Given the description of an element on the screen output the (x, y) to click on. 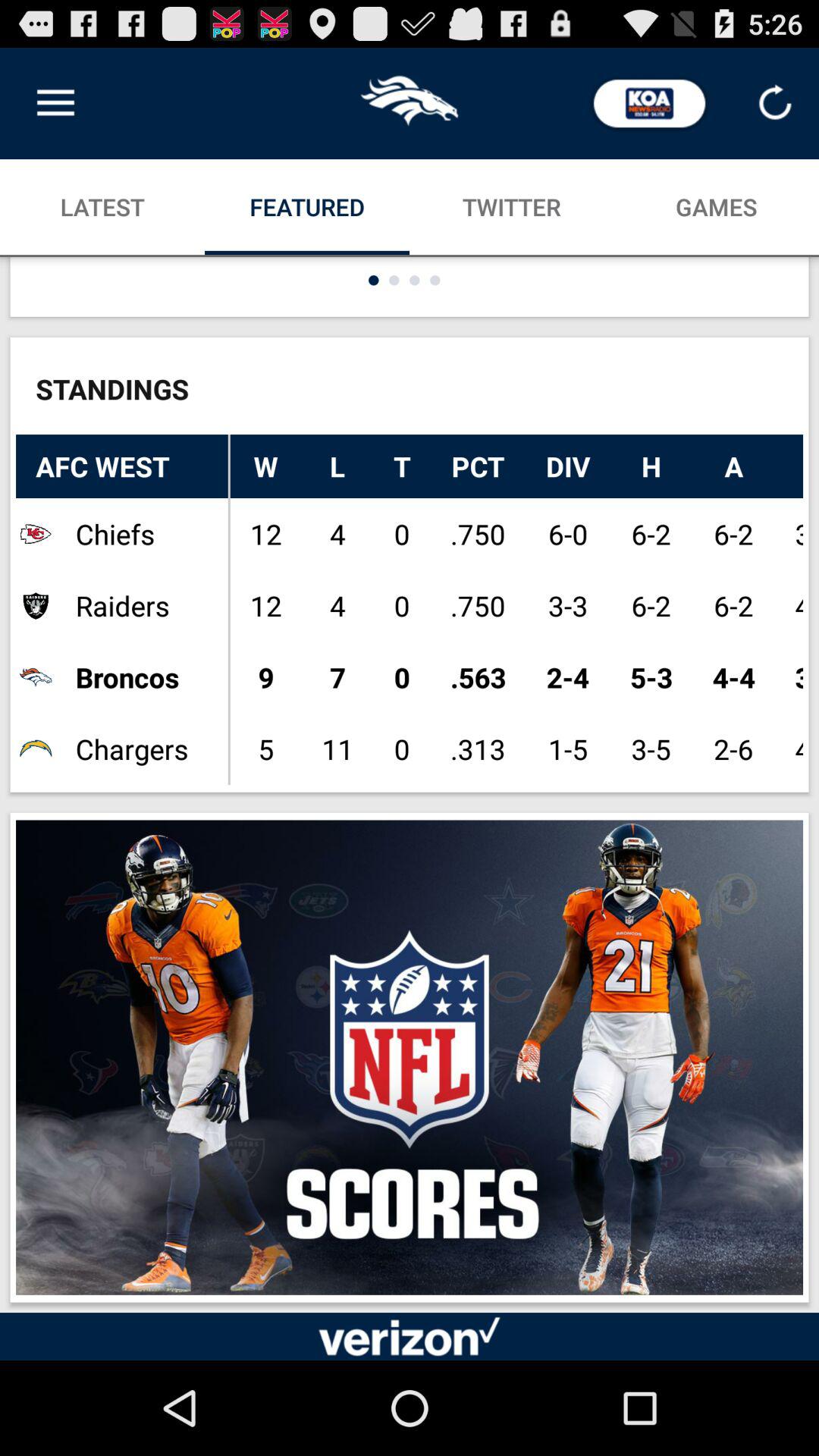
selected the icon which is left to the chargers (35, 748)
click on refresh symbol at the top right corner of the page (775, 103)
click on twitter (511, 206)
